Given the description of an element on the screen output the (x, y) to click on. 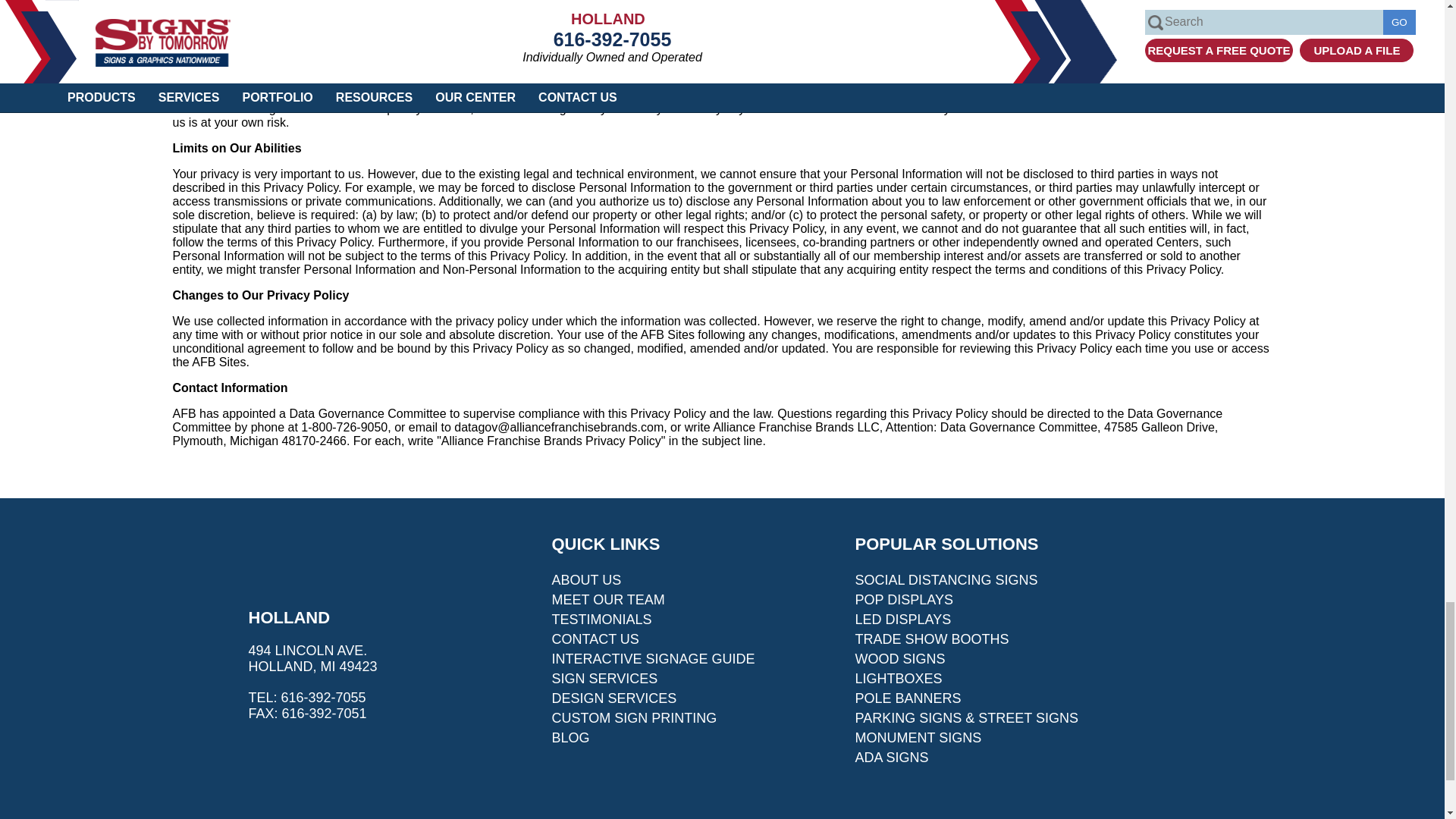
TESTIMONIALS (601, 618)
WOOD SIGNS (900, 657)
BLOG (570, 736)
INTERACTIVE SIGNAGE GUIDE (653, 657)
ADA SIGNS (892, 756)
instagram (334, 741)
CONTACT US (595, 638)
SIGN SERVICES (604, 677)
DESIGN SERVICES (614, 697)
LIGHTBOXES (899, 677)
